Given the description of an element on the screen output the (x, y) to click on. 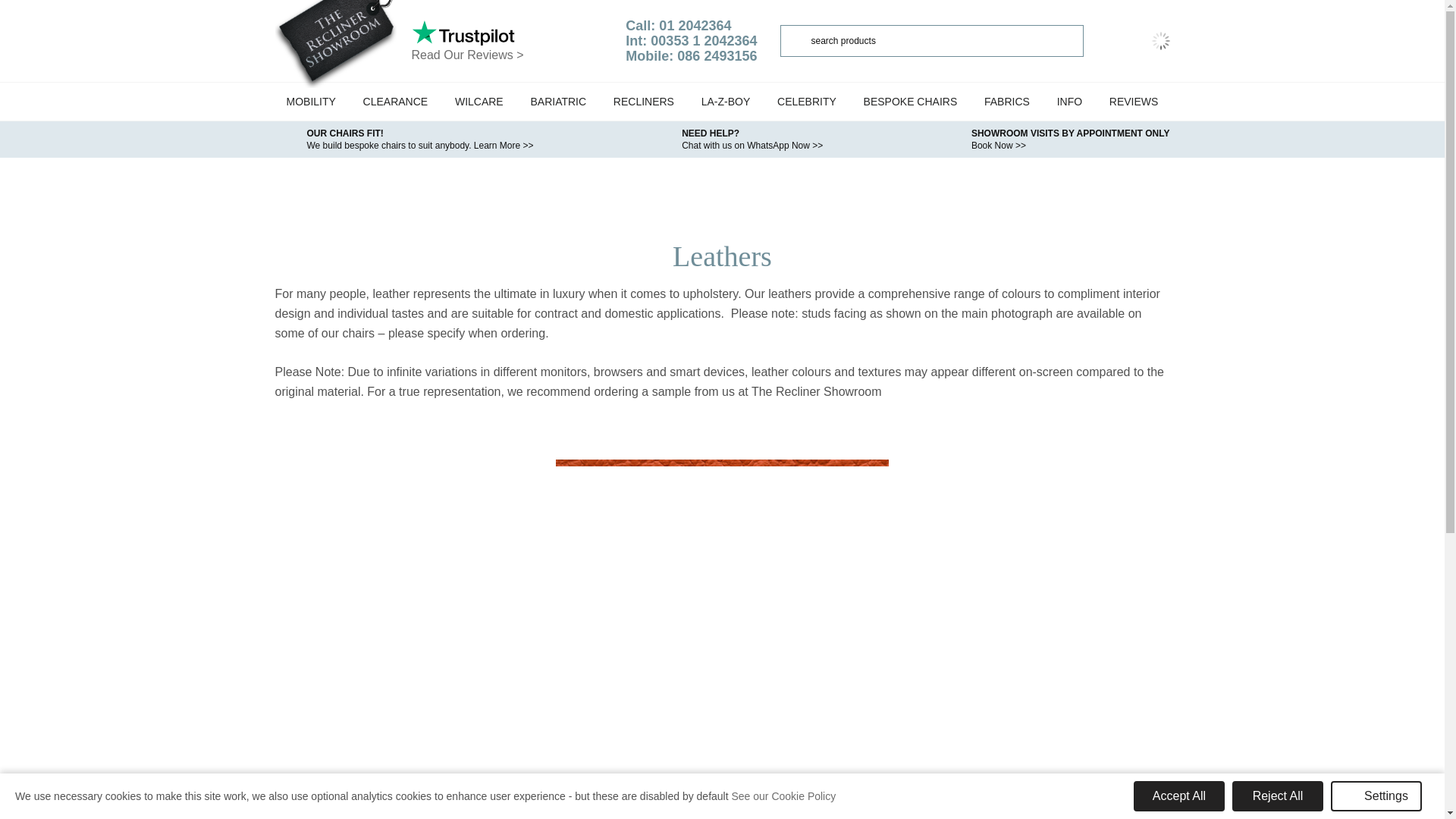
CELEBRITY (806, 101)
Bespoke Chairs (910, 101)
Info (1069, 101)
bariatric (557, 101)
Mobile: 086 2493156 (691, 55)
wilcare (479, 101)
LA-Z-BOY (725, 101)
BESPOKE CHAIRS (910, 101)
clearance (395, 101)
RECLINERS (643, 101)
recliners (643, 101)
BARIATRIC (557, 101)
celebrity (806, 101)
REVIEWS (1133, 101)
MOBILITY (310, 101)
